Given the description of an element on the screen output the (x, y) to click on. 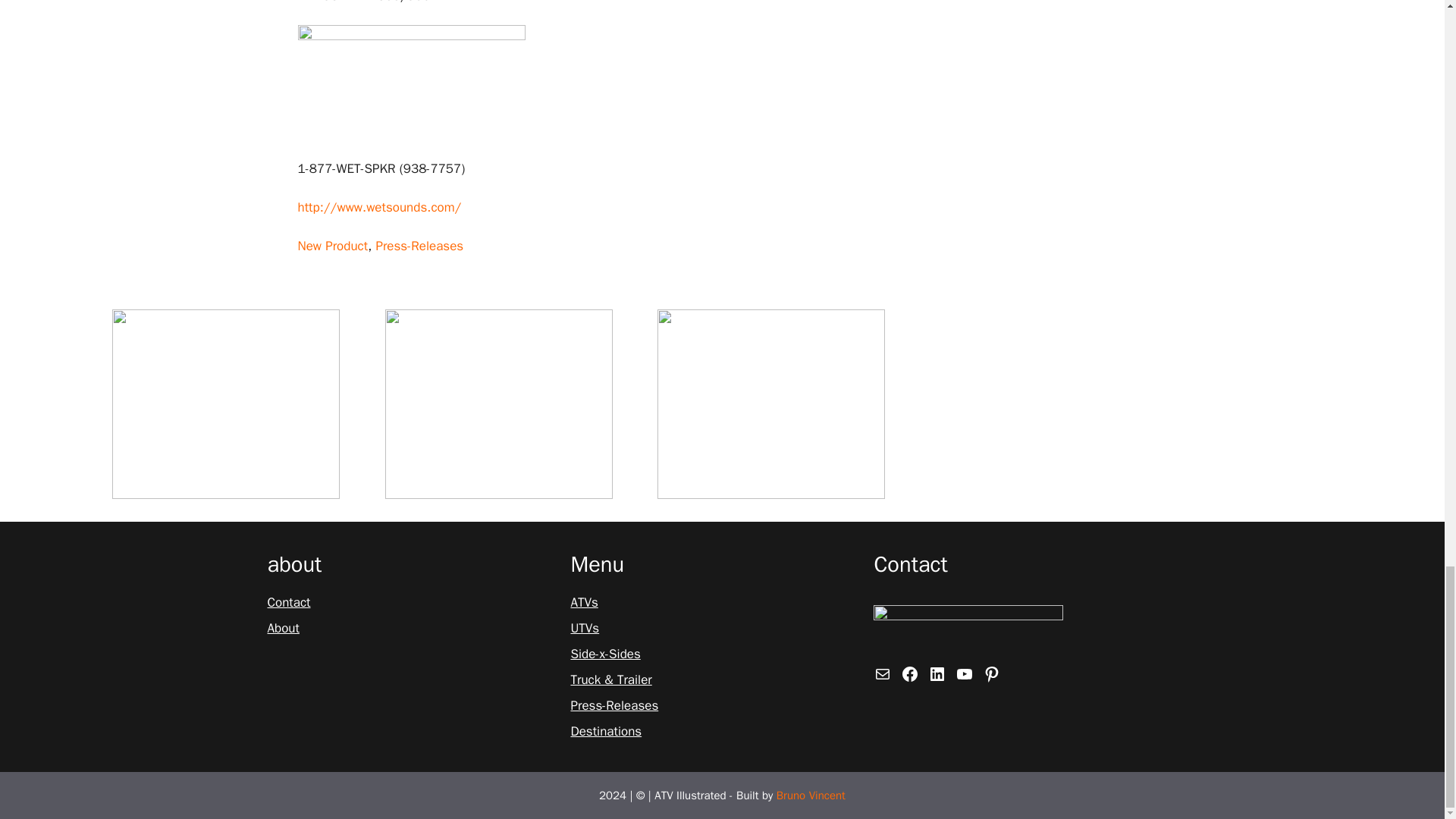
Logo-250-w (967, 629)
Press-Releases (419, 245)
UTVs (584, 628)
ATVs (583, 602)
Contact (288, 602)
New Product (332, 245)
About (282, 628)
